Given the description of an element on the screen output the (x, y) to click on. 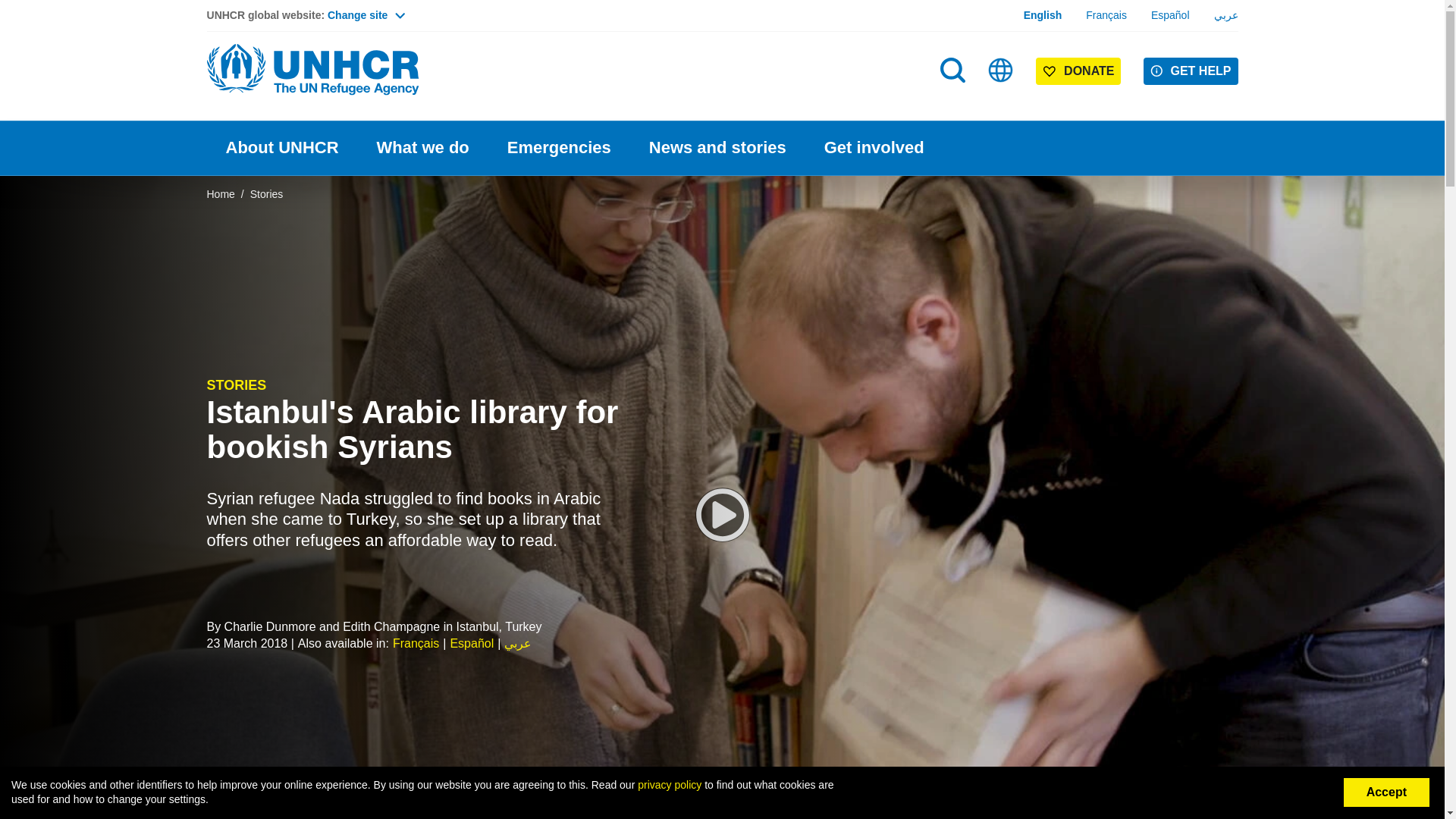
English (1042, 15)
GET HELP (1189, 71)
About UNHCR (281, 148)
Sites (1000, 69)
Search (952, 69)
Change site (365, 15)
Search (954, 99)
Home (312, 69)
DONATE (1078, 71)
Skip to main content (721, 1)
